Given the description of an element on the screen output the (x, y) to click on. 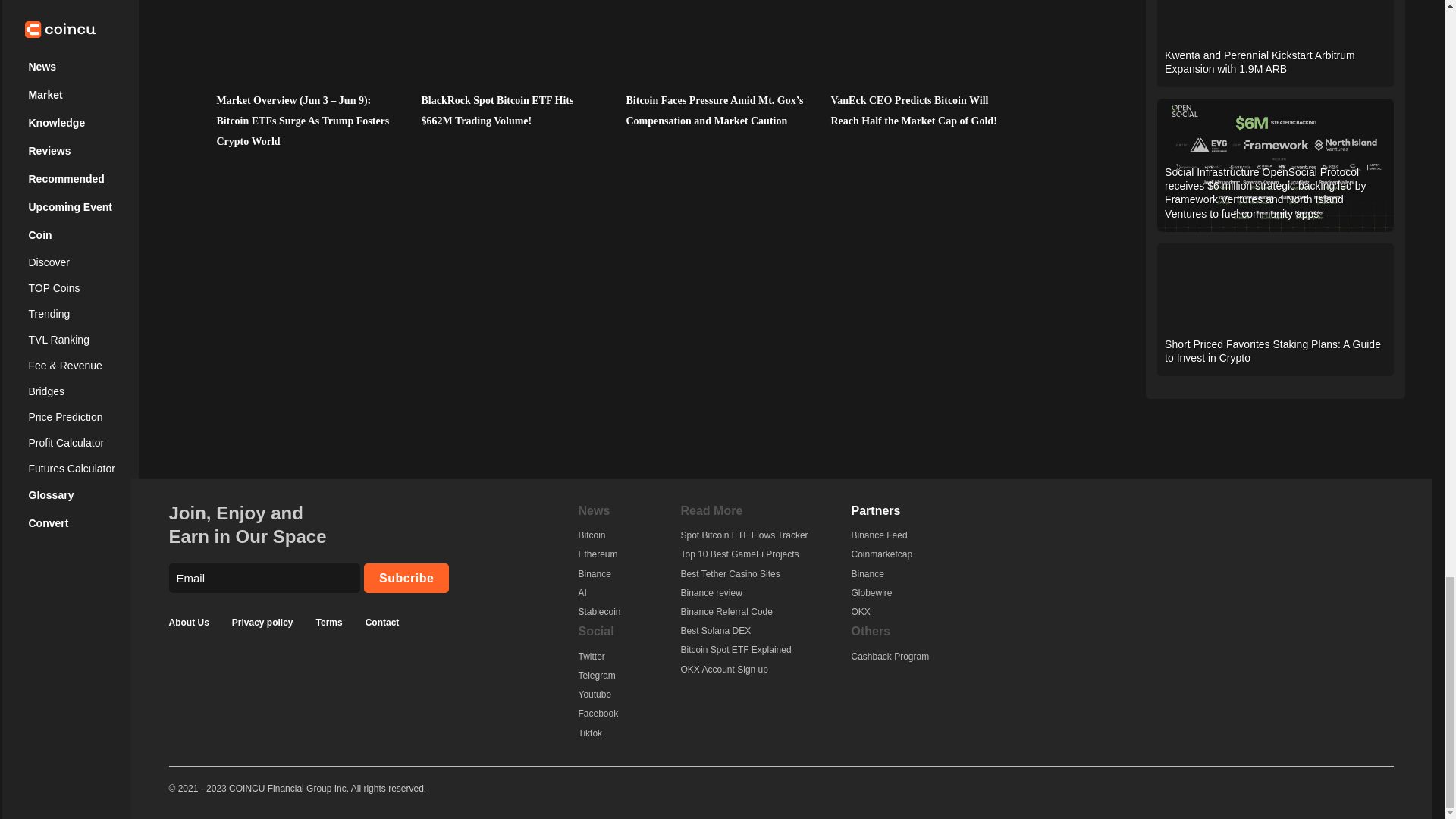
Subcribe (406, 577)
